Given the description of an element on the screen output the (x, y) to click on. 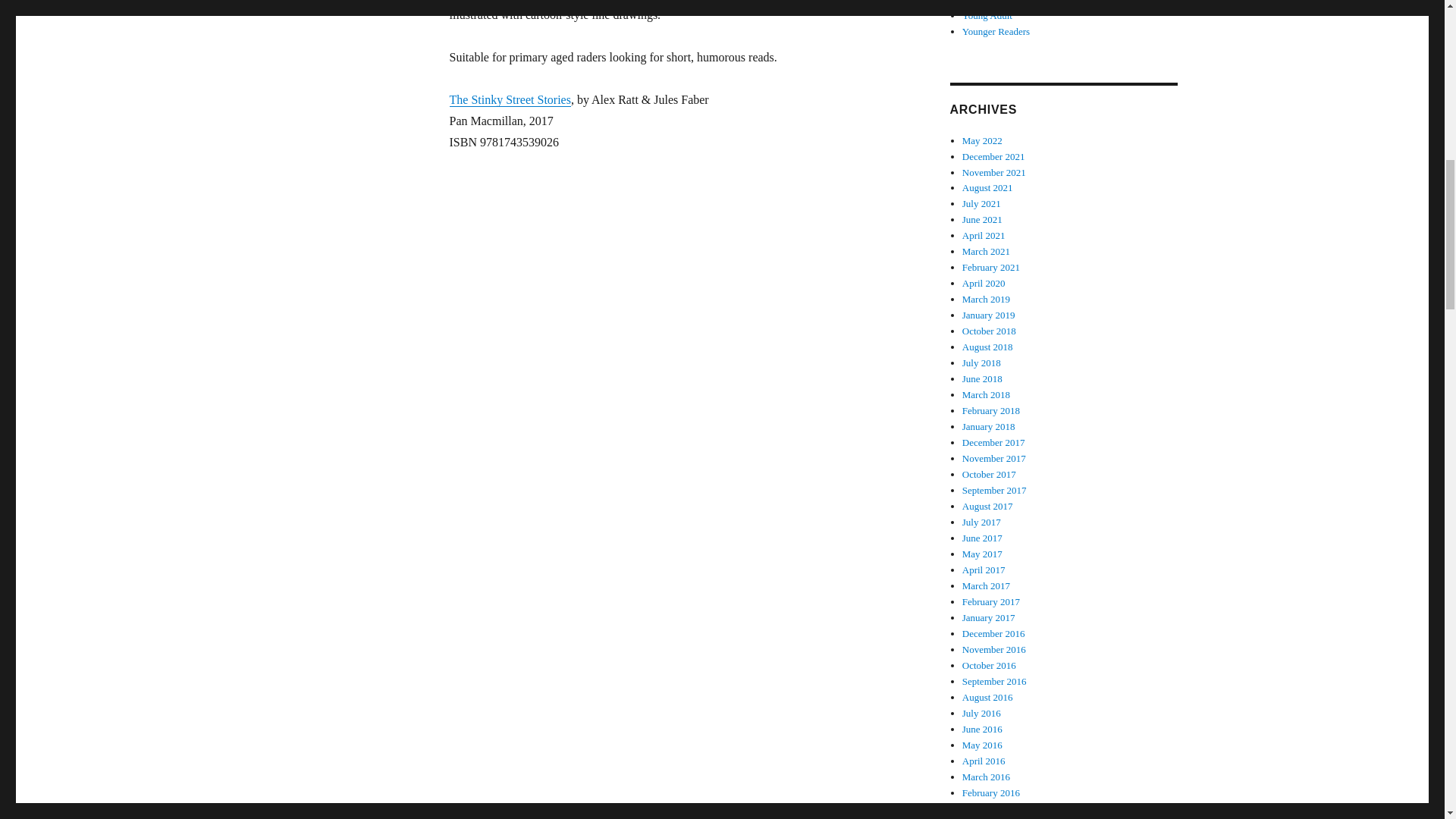
Young Adult (986, 15)
November 2021 (994, 172)
The Stinky Street Stories (509, 99)
May 2022 (982, 140)
December 2021 (993, 156)
Younger Readers (995, 30)
July 2021 (981, 203)
June 2021 (982, 219)
August 2021 (987, 187)
Uncategorised (990, 2)
